Given the description of an element on the screen output the (x, y) to click on. 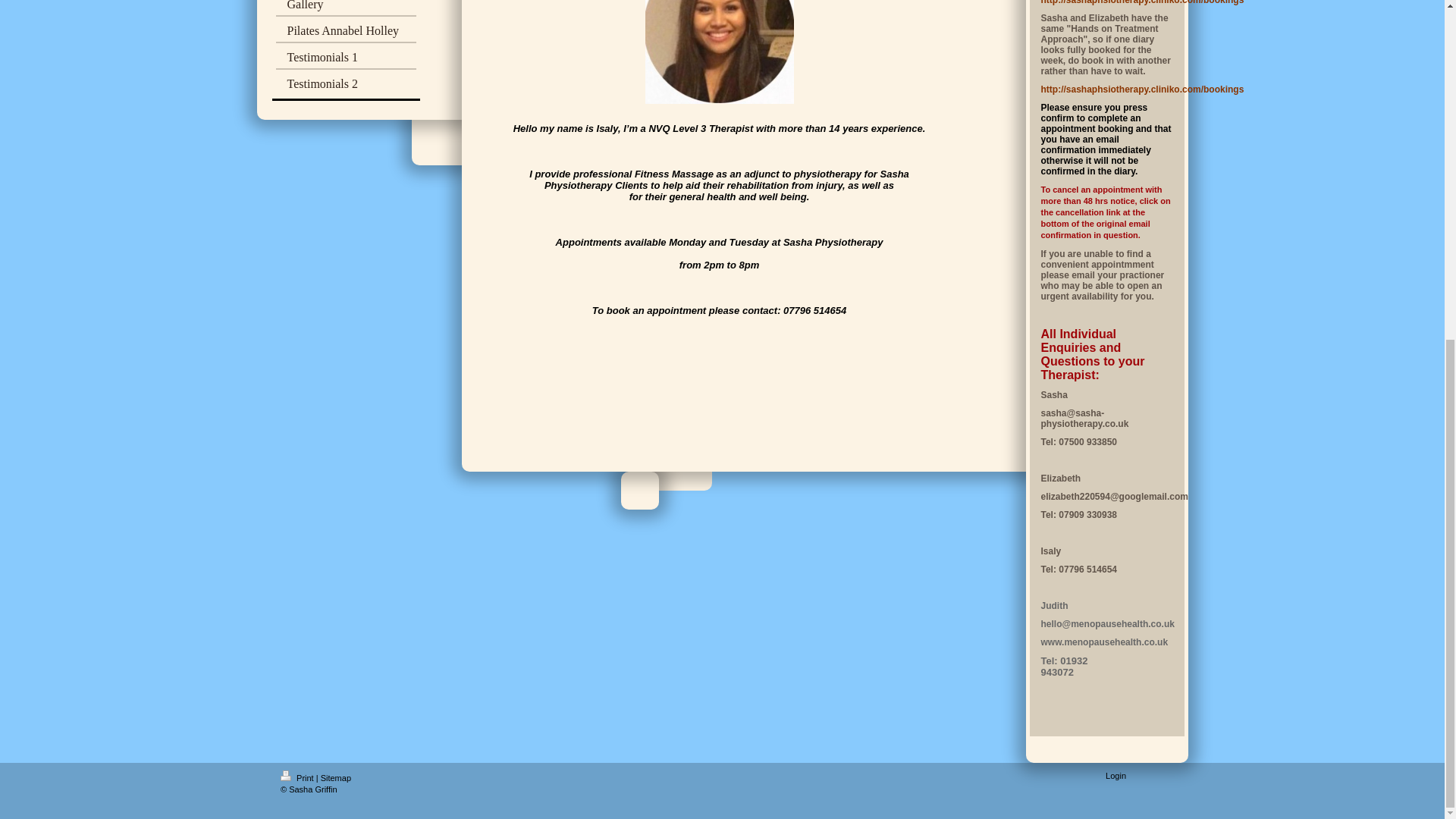
Sitemap (335, 777)
Gallery (346, 8)
Testimonials 1 (346, 59)
Testimonials 2 (346, 83)
Pilates Annabel Holley (346, 33)
Print (298, 777)
Login (1115, 775)
